Given the description of an element on the screen output the (x, y) to click on. 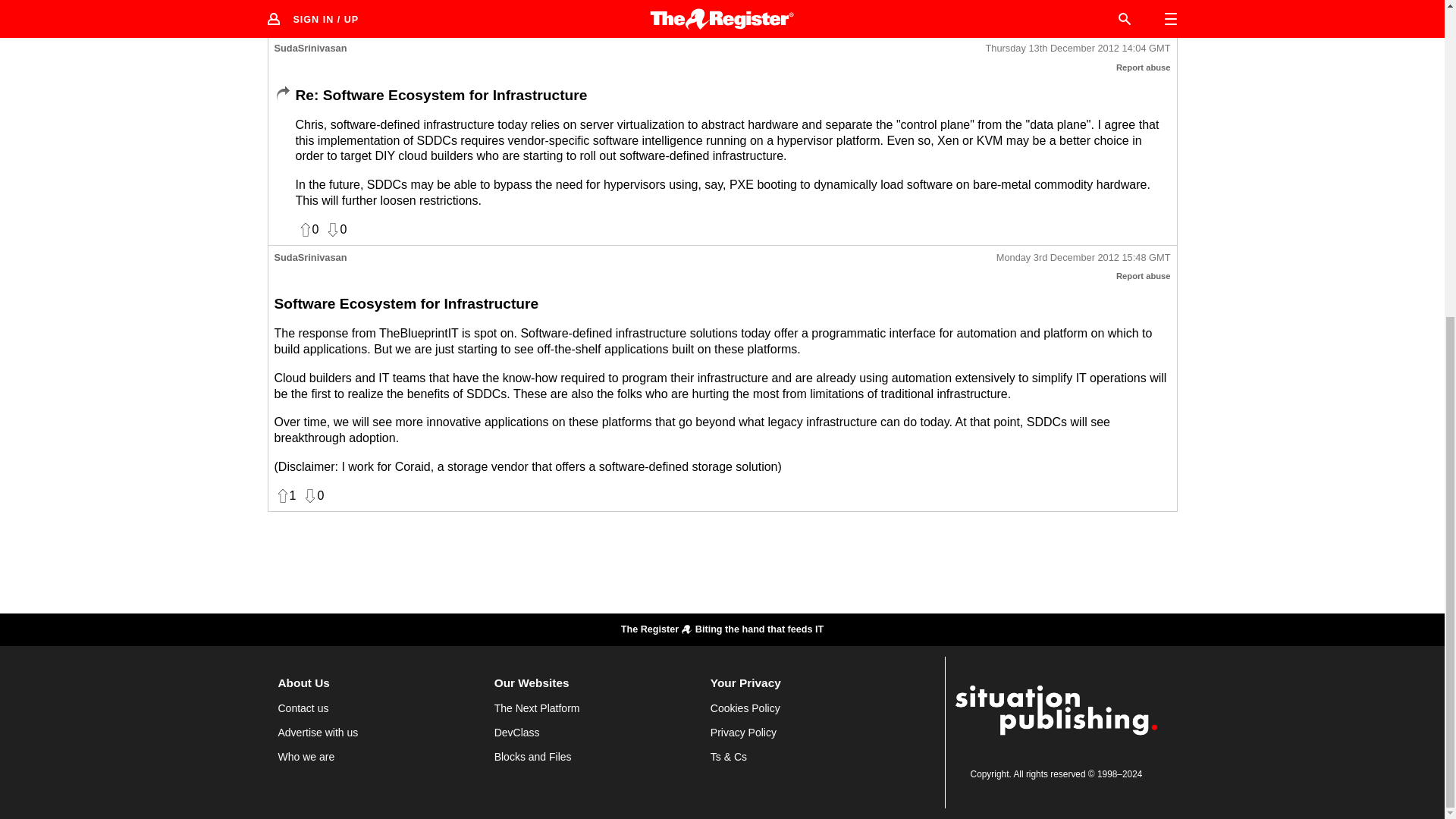
Like this post? Vote for it! (307, 229)
Permalink to this post (1077, 48)
Report abuse (1143, 67)
Inappropriate post? Report it to our moderators (1143, 67)
Permalink to this post (1082, 257)
Dislike this post? Vote it down! (335, 229)
Report abuse (1143, 275)
Dislike this post? Vote it down! (312, 495)
Inappropriate post? Report it to our moderators (1143, 275)
In reply to (282, 93)
